Given the description of an element on the screen output the (x, y) to click on. 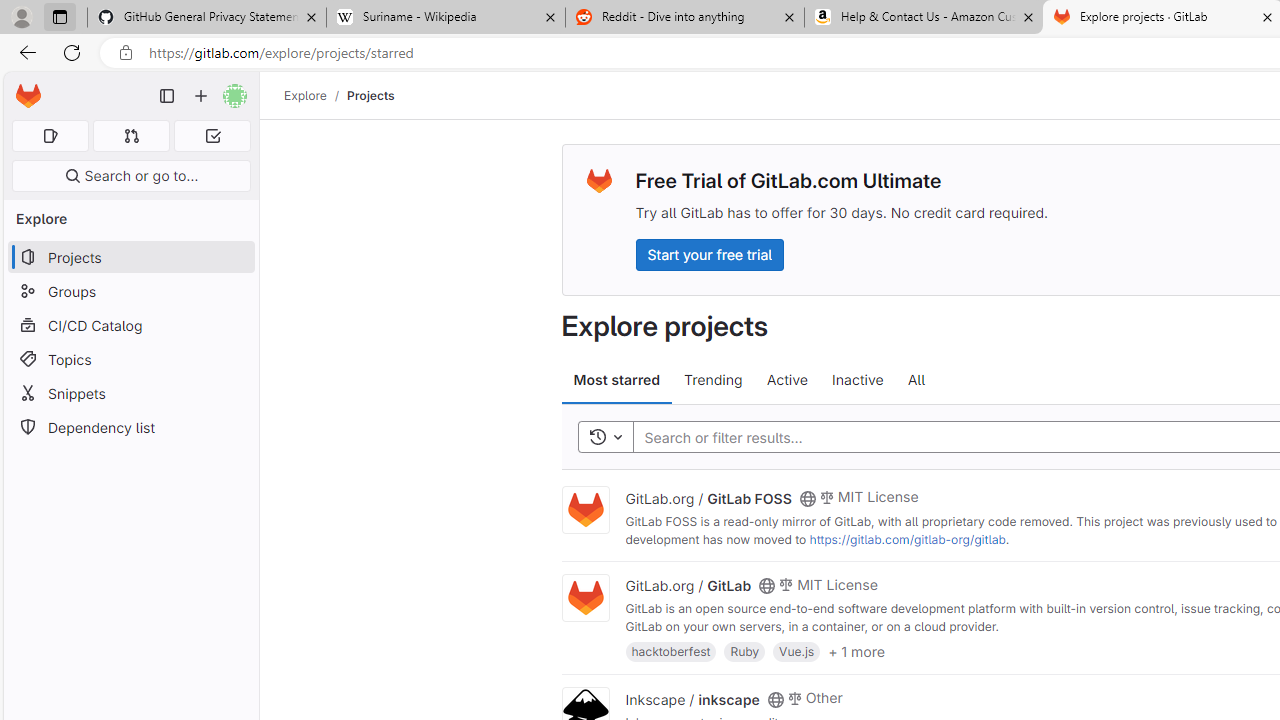
Inkscape / inkscape (692, 698)
Merge requests 0 (131, 136)
Most starred (616, 379)
Projects (370, 95)
GitLab.org / GitLab (688, 585)
Explore/ (316, 95)
Projects (370, 95)
Suriname - Wikipedia (445, 17)
Groups (130, 291)
hacktoberfest (670, 650)
All (916, 379)
Topics (130, 358)
Toggle history (605, 437)
